Given the description of an element on the screen output the (x, y) to click on. 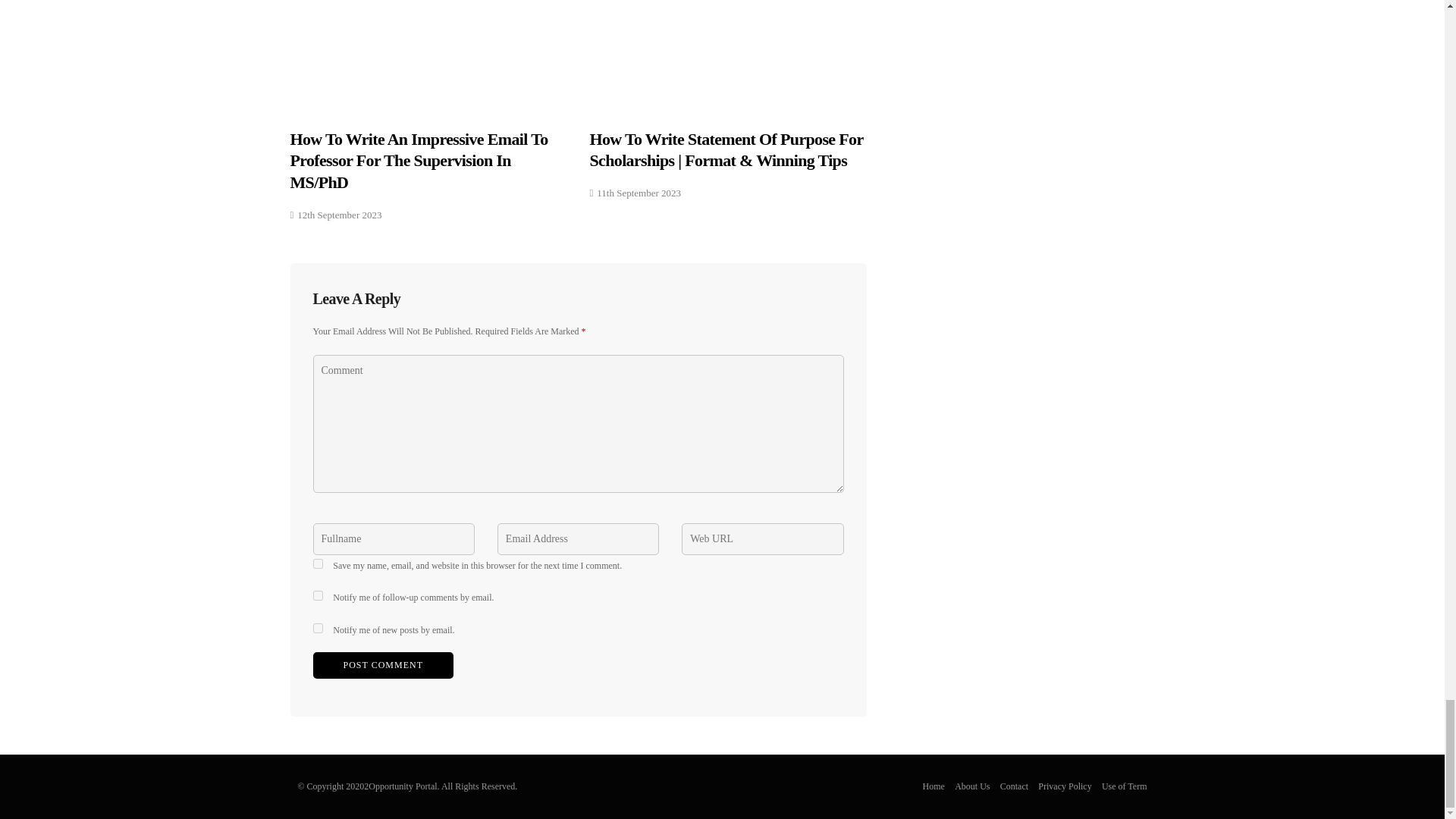
subscribe (317, 628)
Post Comment (382, 664)
yes (317, 563)
subscribe (317, 595)
